Given the description of an element on the screen output the (x, y) to click on. 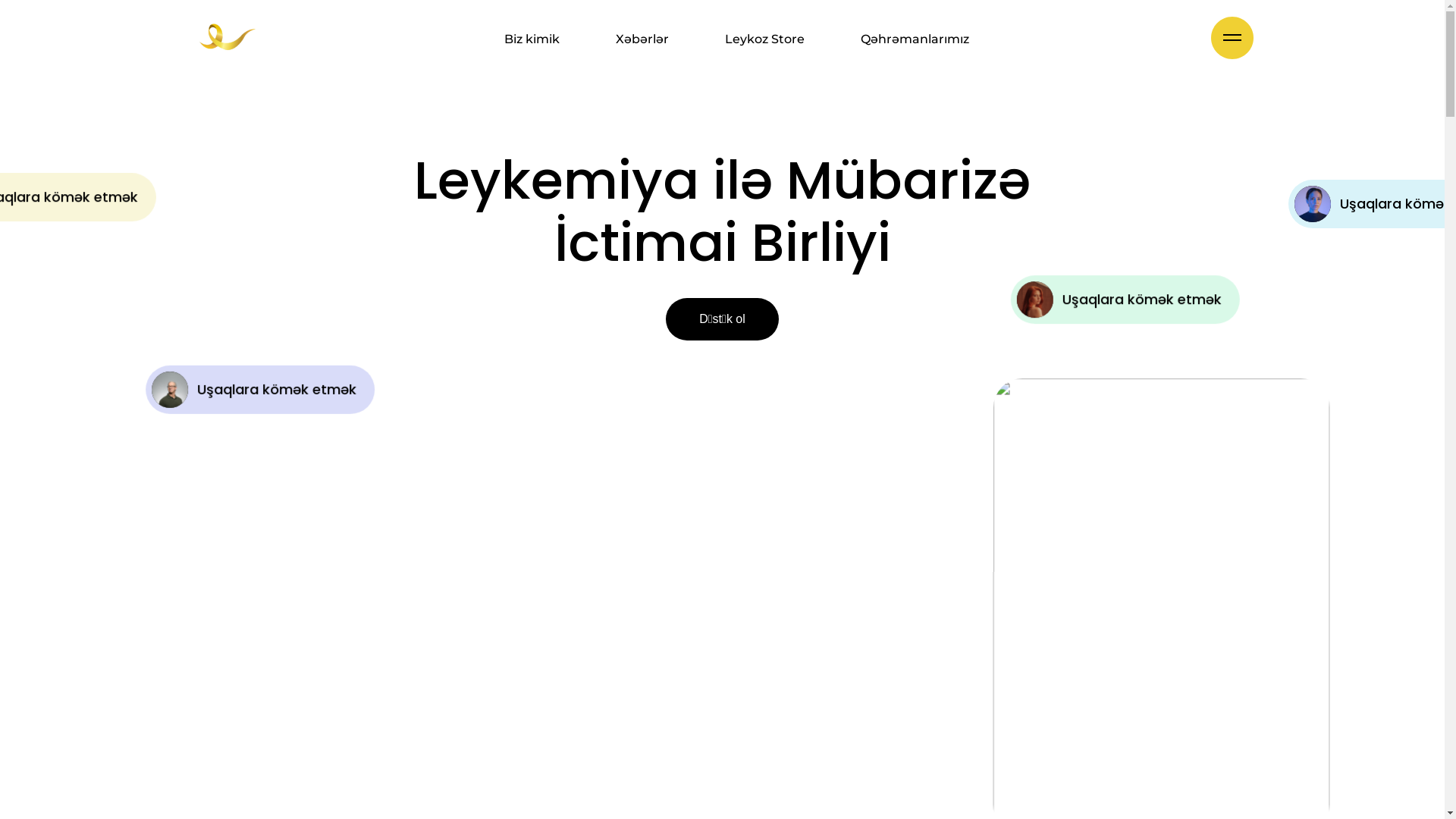
Biz kimik Element type: text (531, 38)
Leykoz Store Element type: text (764, 38)
